Given the description of an element on the screen output the (x, y) to click on. 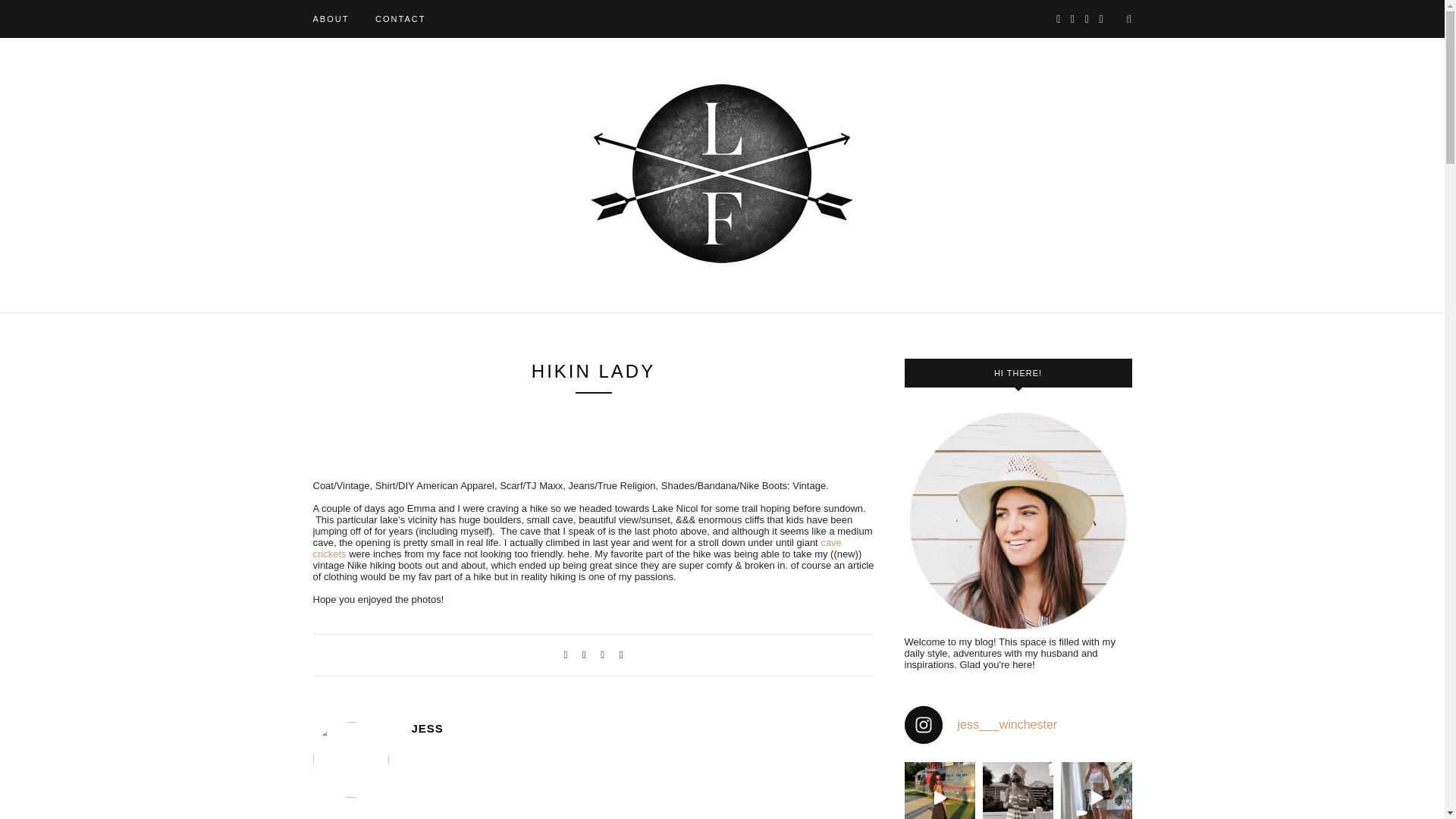
cave crickets (577, 548)
JESS (641, 727)
Posts by Jess (641, 727)
CONTACT (400, 18)
ABOUT (331, 18)
